Given the description of an element on the screen output the (x, y) to click on. 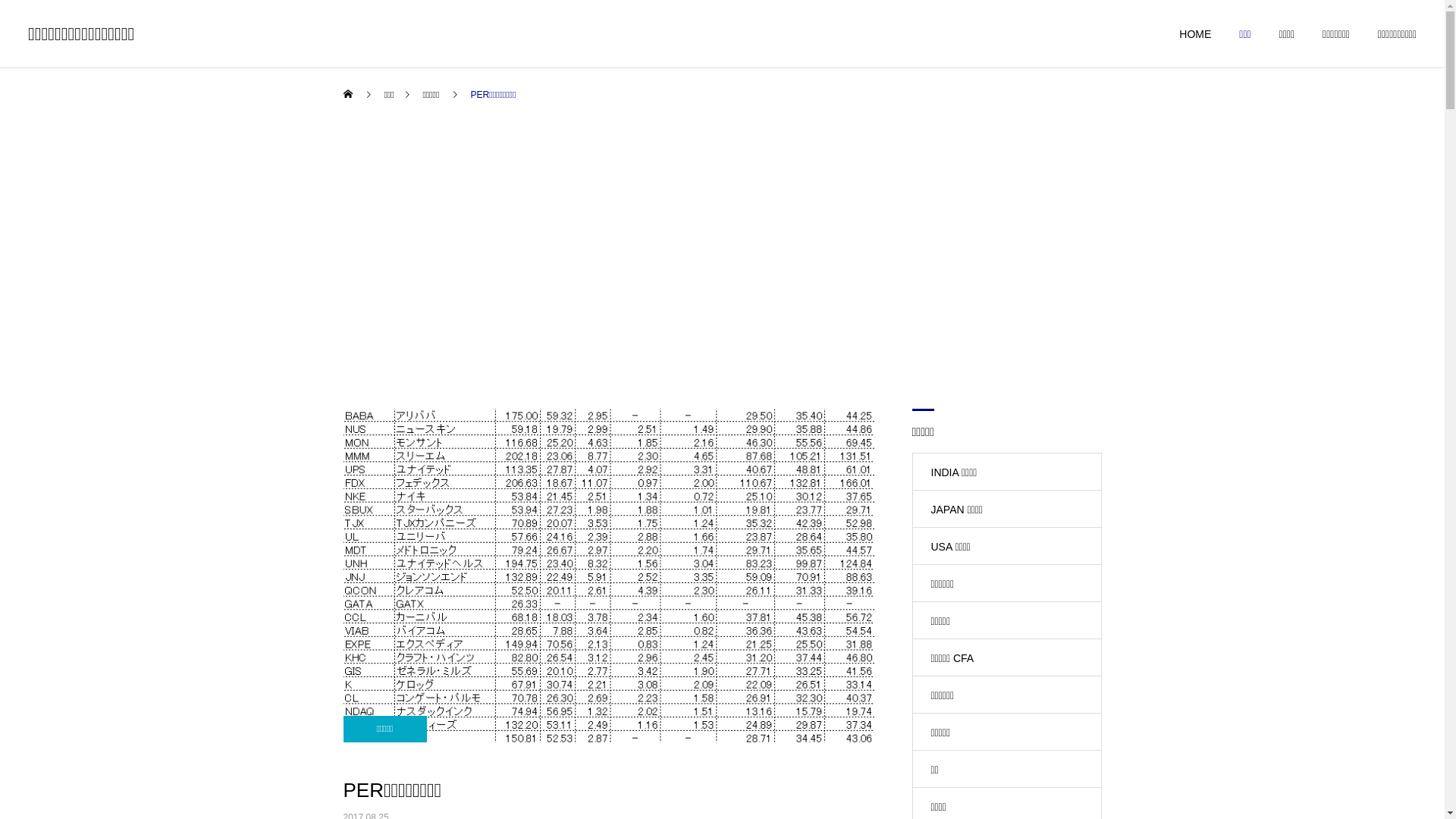
HOME Element type: text (1181, 34)
Advertisement Element type: hover (721, 264)
